Given the description of an element on the screen output the (x, y) to click on. 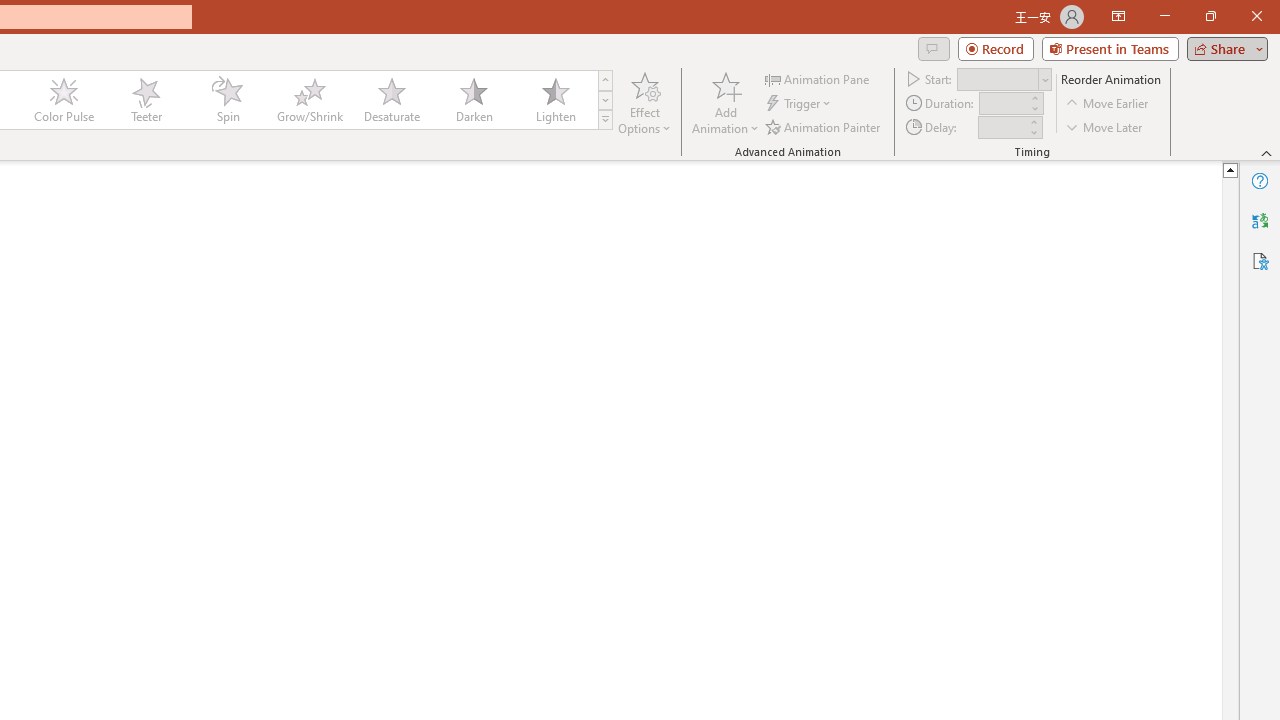
More (1033, 121)
Move Earlier (1107, 103)
Spin (227, 100)
Desaturate (391, 100)
Animation Delay (1002, 127)
